Given the description of an element on the screen output the (x, y) to click on. 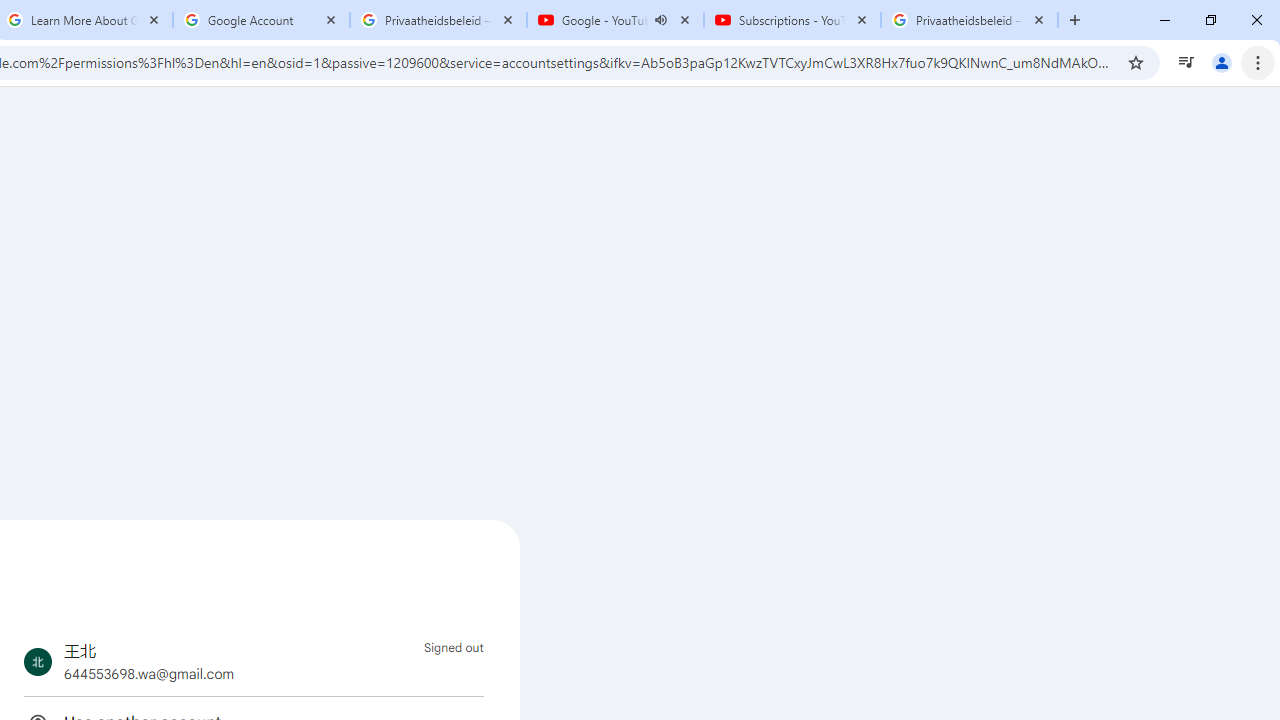
Google - YouTube - Audio playing (615, 20)
Google Account (260, 20)
Control your music, videos, and more (1185, 62)
Subscriptions - YouTube (792, 20)
Mute tab (660, 20)
